Given the description of an element on the screen output the (x, y) to click on. 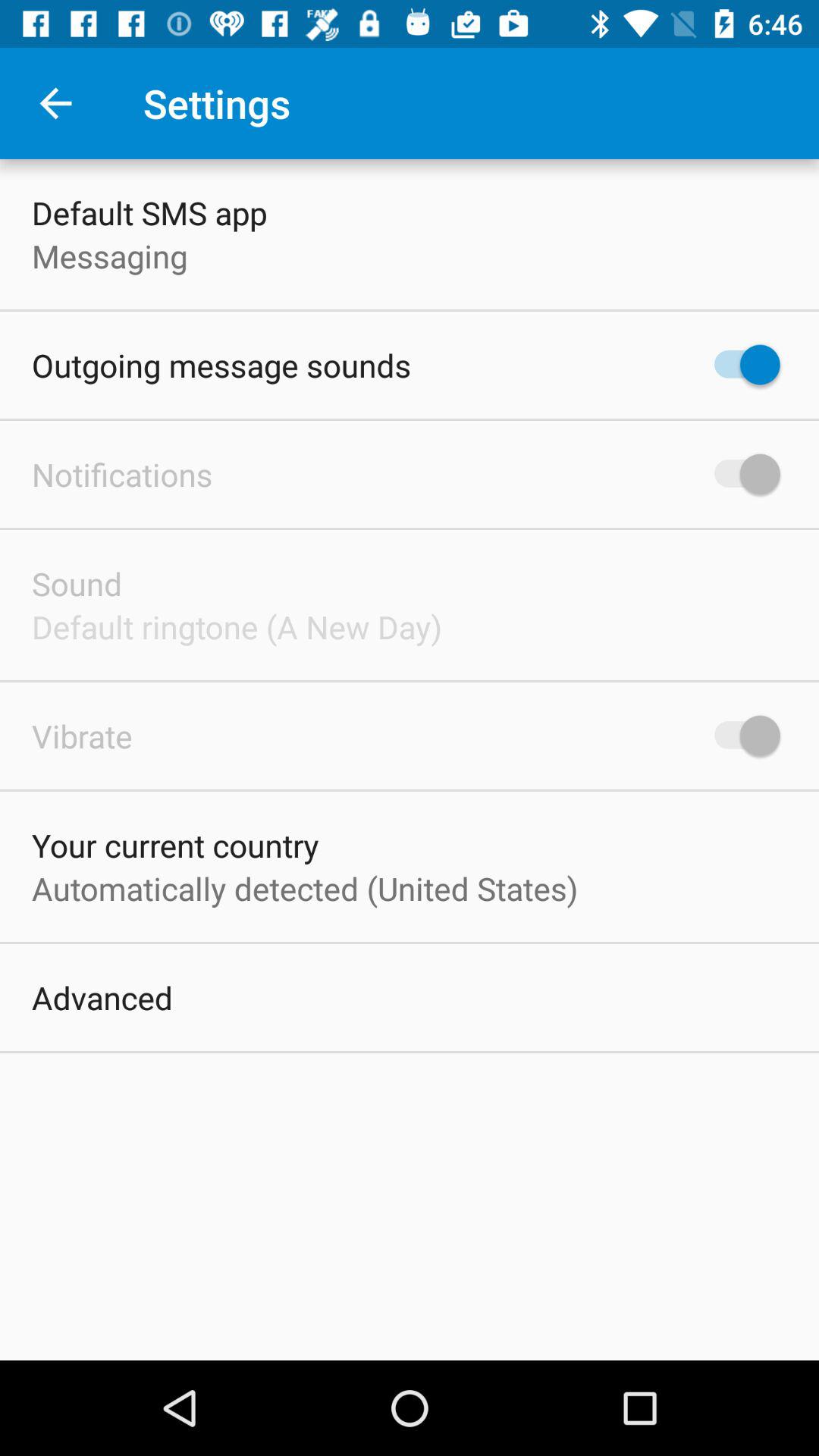
press the default ringtone a item (236, 626)
